Given the description of an element on the screen output the (x, y) to click on. 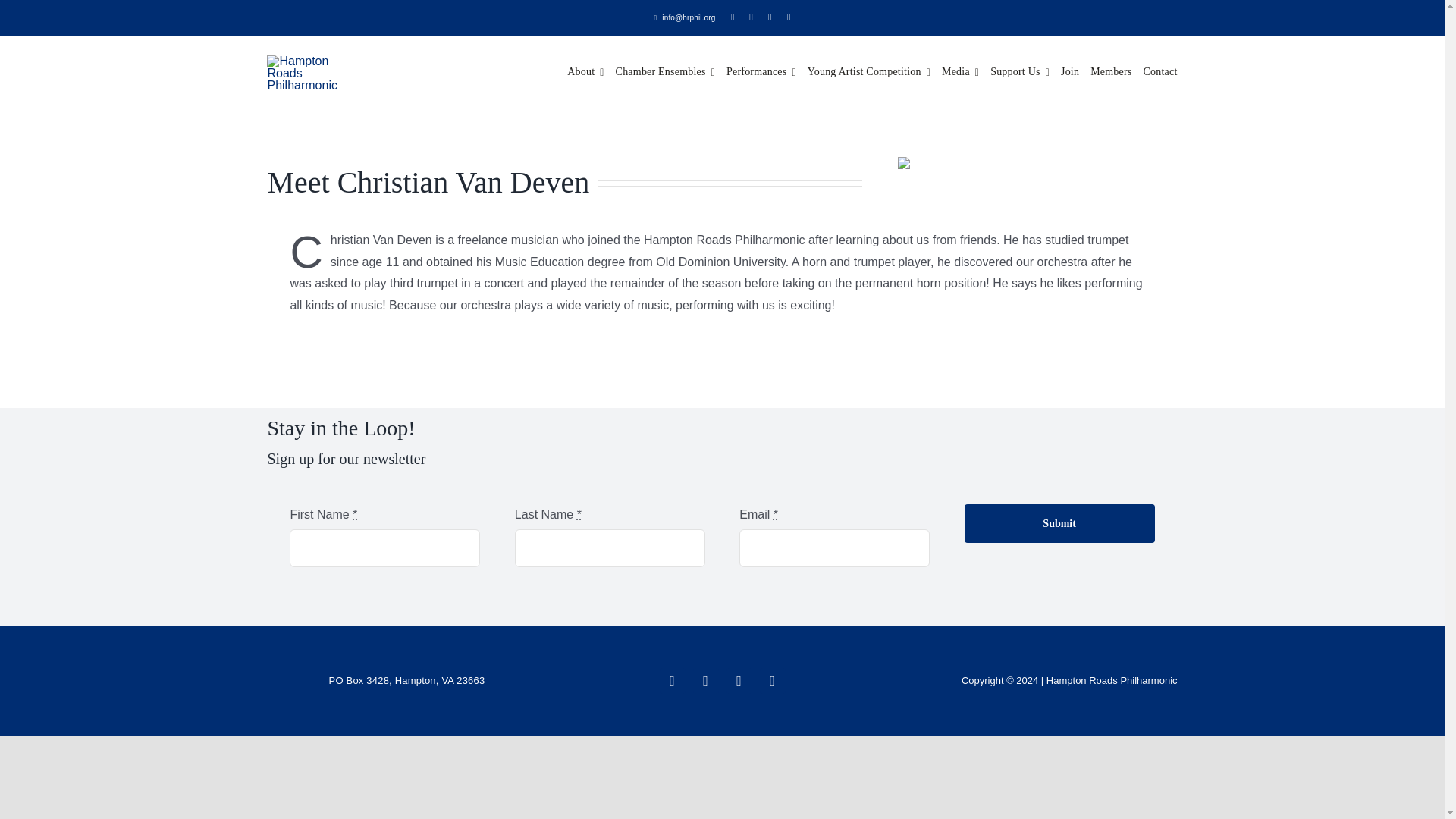
YouTube (773, 680)
Facebook (672, 680)
Young Artist Competition (869, 73)
Submit (1058, 523)
Performances (761, 73)
X (739, 680)
Chamber Ensembles (664, 73)
Instagram (706, 680)
